Given the description of an element on the screen output the (x, y) to click on. 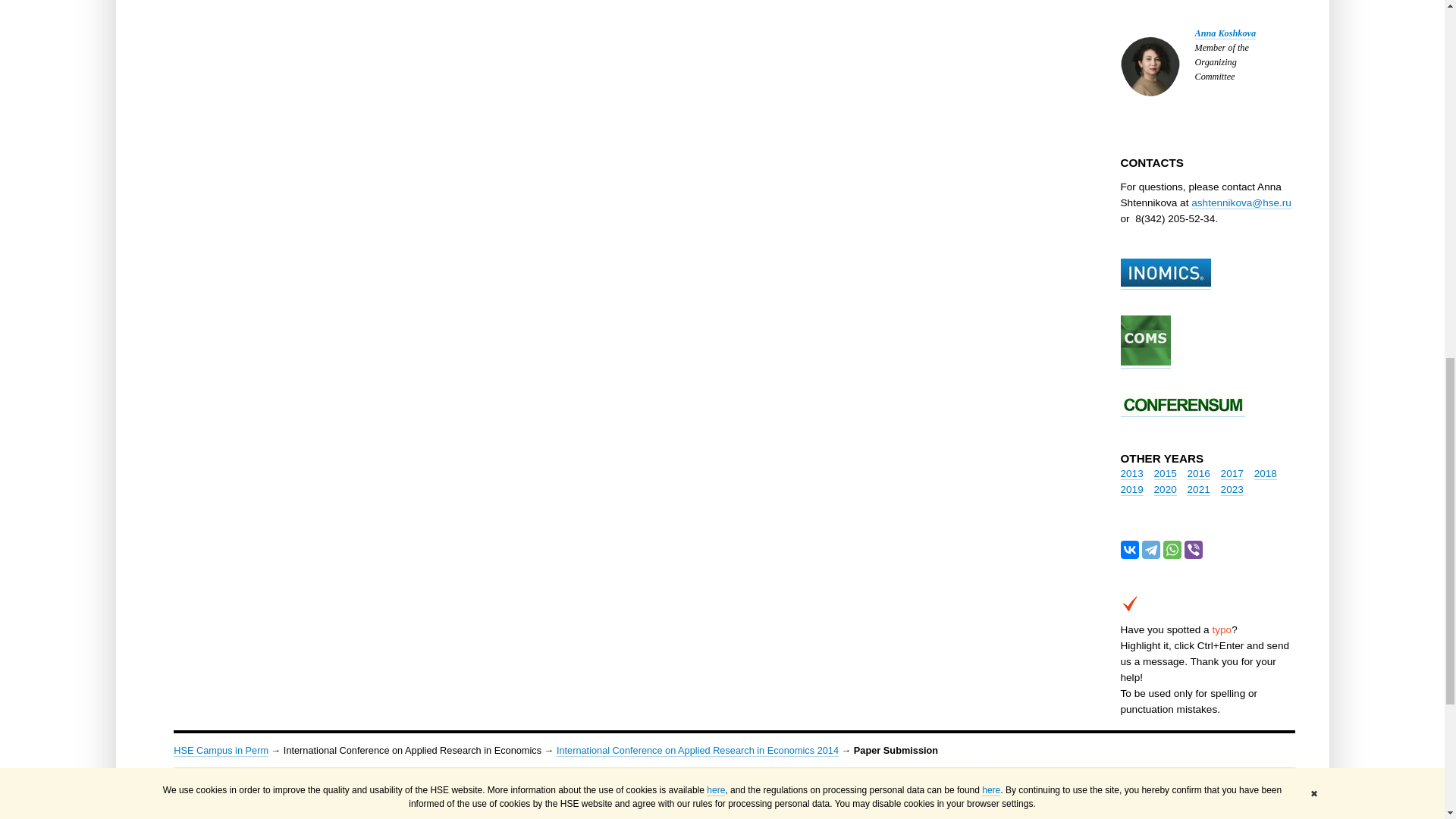
Viber (1193, 549)
WhatsApp (1171, 549)
VKontakte (1129, 549)
Anna Koshkova (1225, 33)
Telegram (1150, 549)
